Given the description of an element on the screen output the (x, y) to click on. 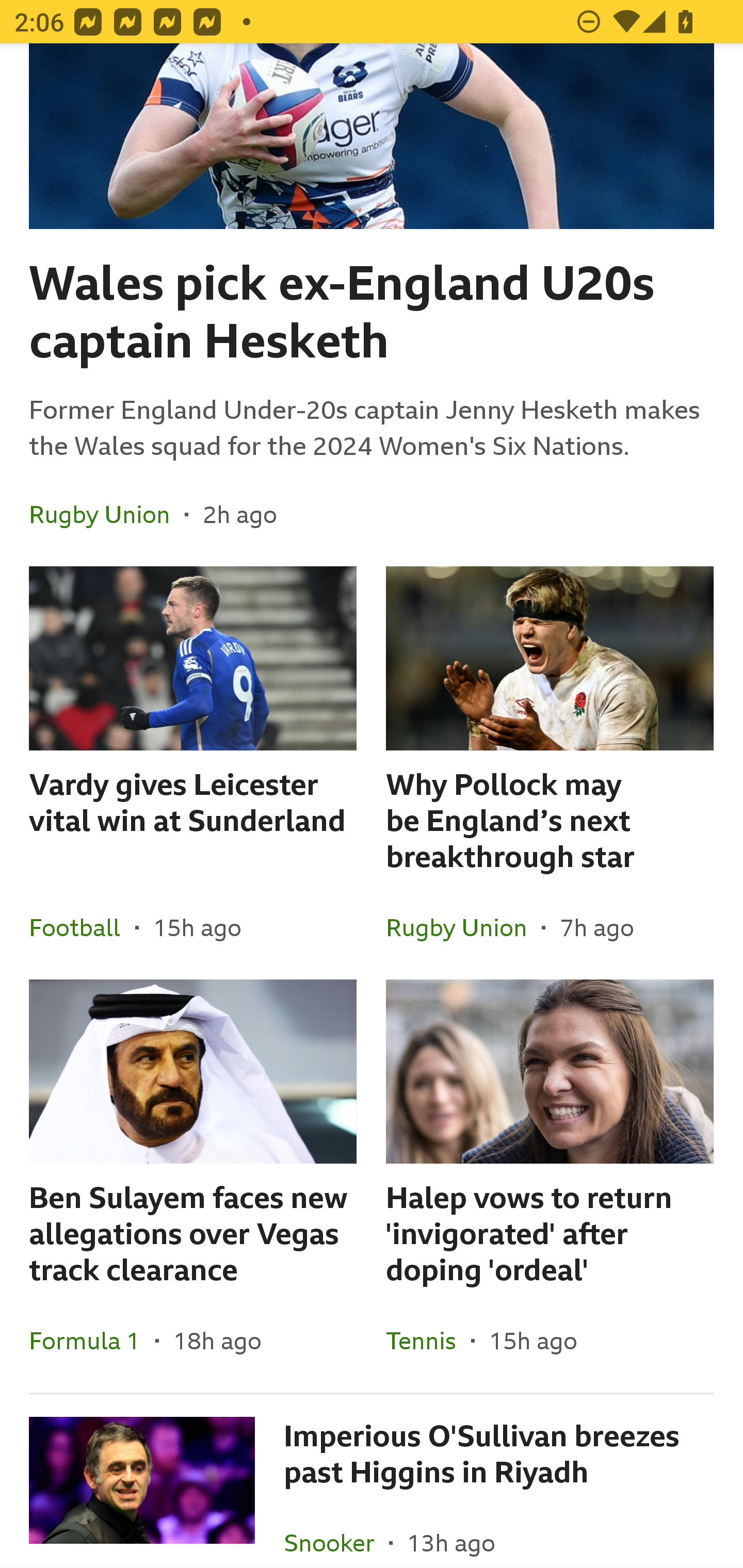
Rugby Union In the section Rugby Union (106, 514)
Football In the section Football (81, 927)
Rugby Union In the section Rugby Union (463, 927)
Formula 1 In the section Formula 1 (91, 1340)
Tennis In the section Tennis (428, 1340)
Snooker In the section Snooker (336, 1529)
